Given the description of an element on the screen output the (x, y) to click on. 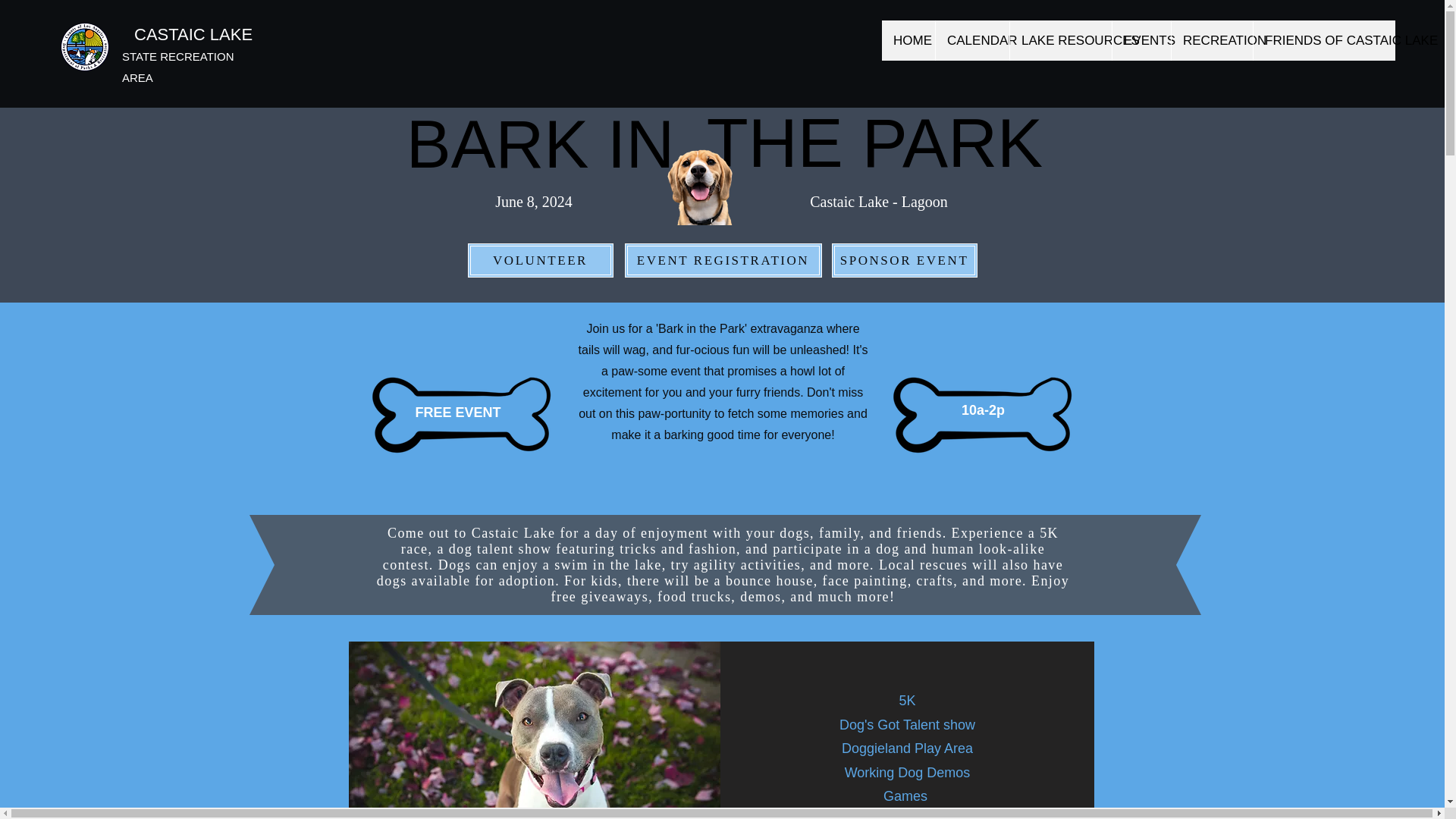
VOLUNTEER (539, 260)
Dog (535, 730)
HOME (908, 40)
CASTAIC LAKE (192, 34)
EVENT REGISTRATION (539, 153)
CALENDAR (723, 260)
